Given the description of an element on the screen output the (x, y) to click on. 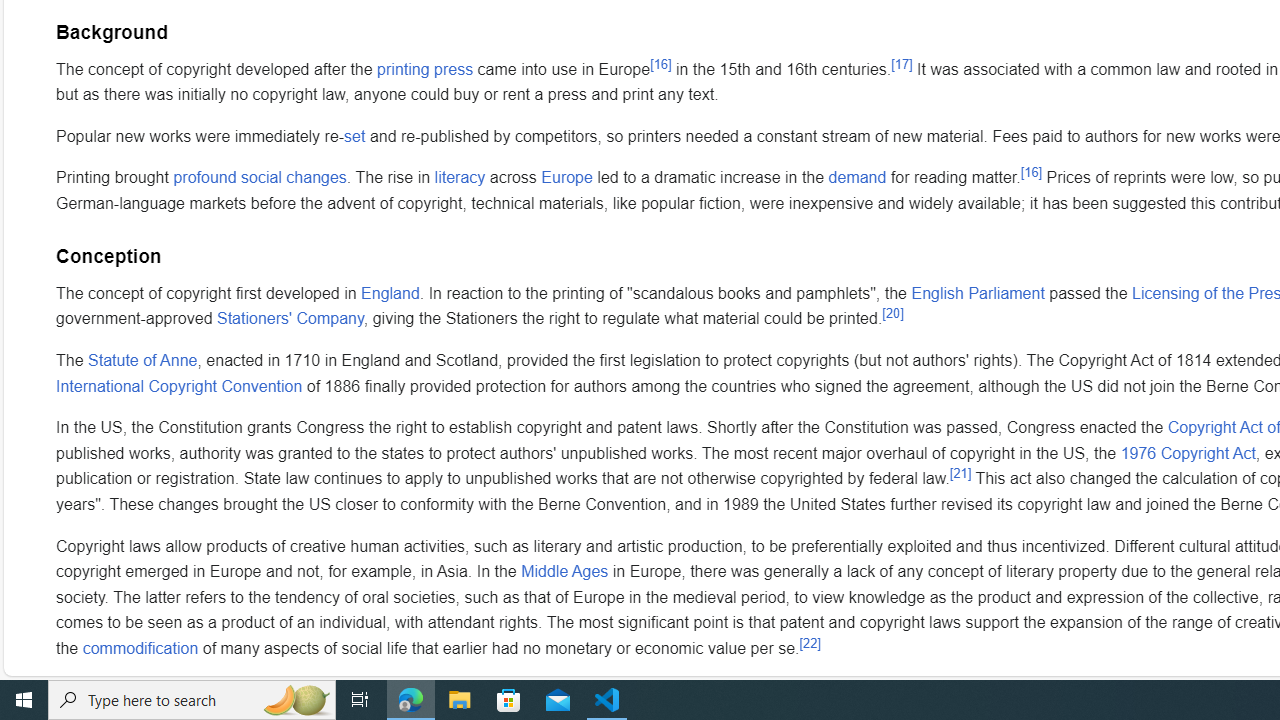
Statute of Anne (143, 361)
Stationers' Company (289, 319)
Middle Ages (564, 572)
[20] (892, 313)
[22] (809, 642)
profound social changes (259, 178)
commodification (139, 647)
[21] (959, 473)
literacy (459, 178)
Europe (566, 178)
English Parliament (977, 292)
[17] (901, 64)
1976 Copyright Act (1187, 453)
set (355, 135)
[16] (1031, 172)
